Given the description of an element on the screen output the (x, y) to click on. 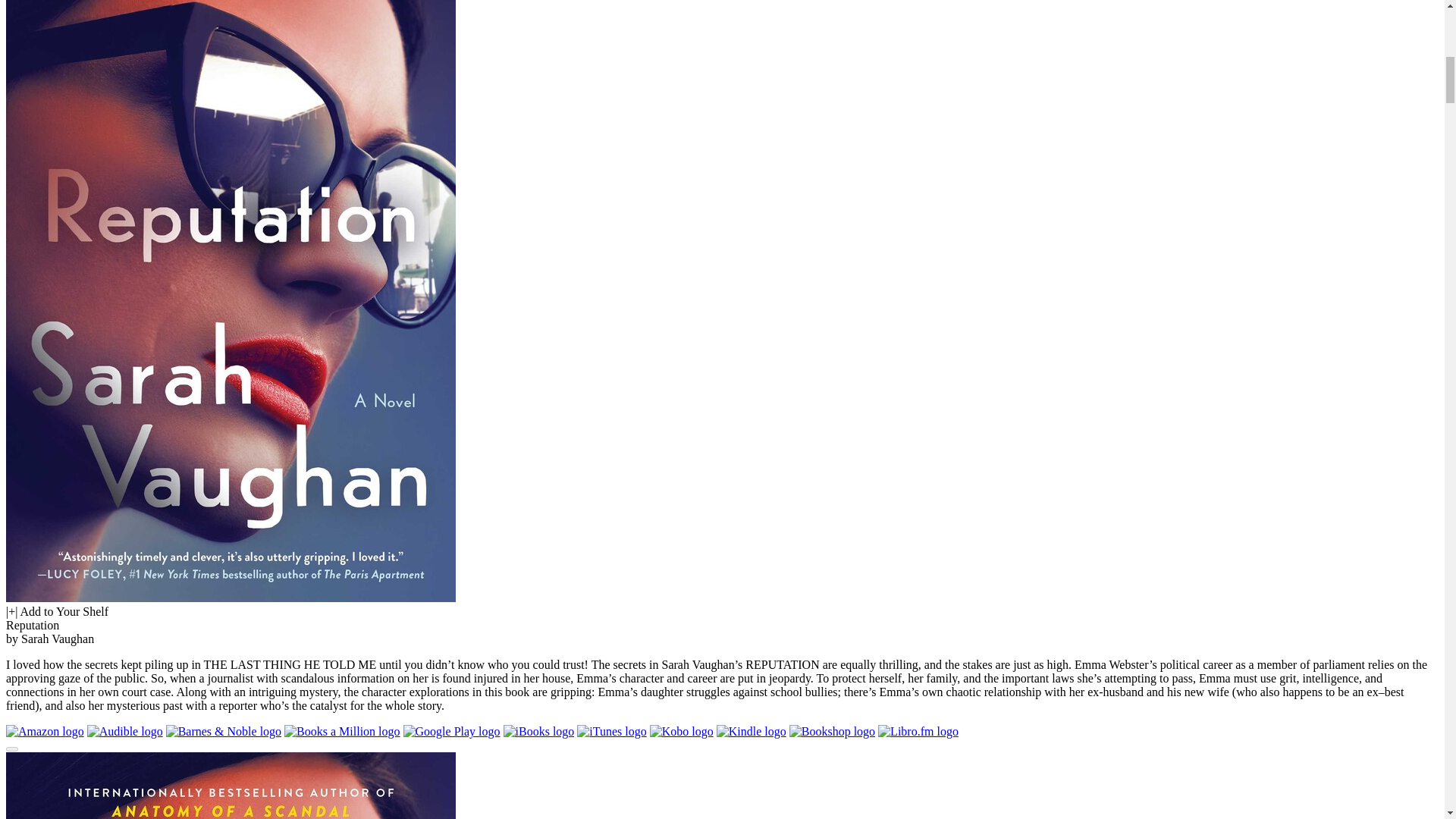
Buy Reputation on Amazon (44, 731)
Buy Reputation on Amazon (44, 730)
Buy Reputation on iBooks (539, 731)
Buy Reputation on Books a Million (340, 731)
Buy Reputation on Books a Million (340, 730)
Buy Reputation on iTunes (611, 730)
Buy Reputation on iBooks (539, 730)
Buy Reputation on Google Play (451, 730)
Buy Reputation on Audible (125, 730)
Buy Reputation on Google Play (451, 731)
Buy Reputation on Audible (125, 731)
